Given the description of an element on the screen output the (x, y) to click on. 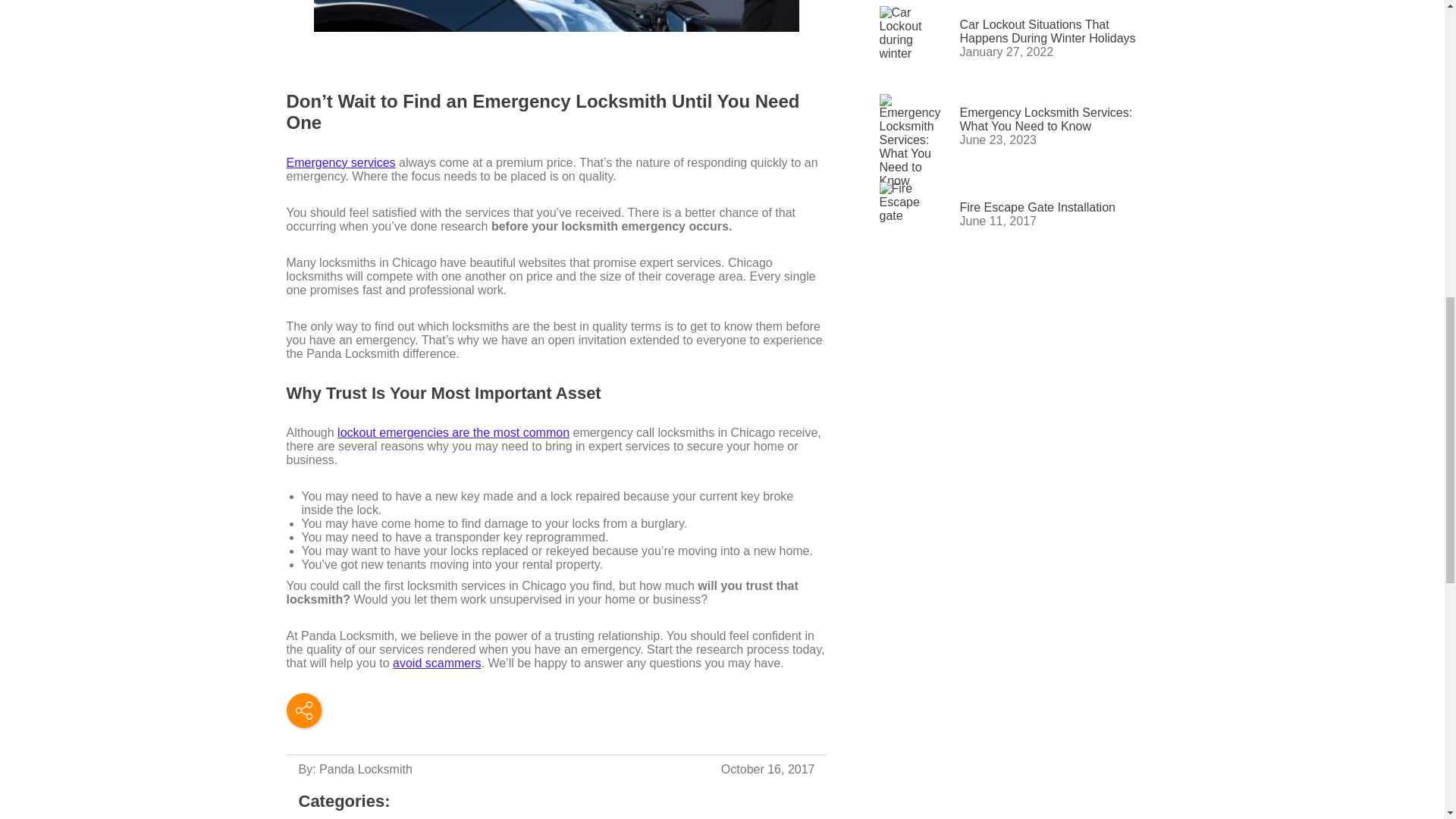
Tumblr (276, 710)
Pinterest (302, 710)
Share this post! (303, 710)
